Given the description of an element on the screen output the (x, y) to click on. 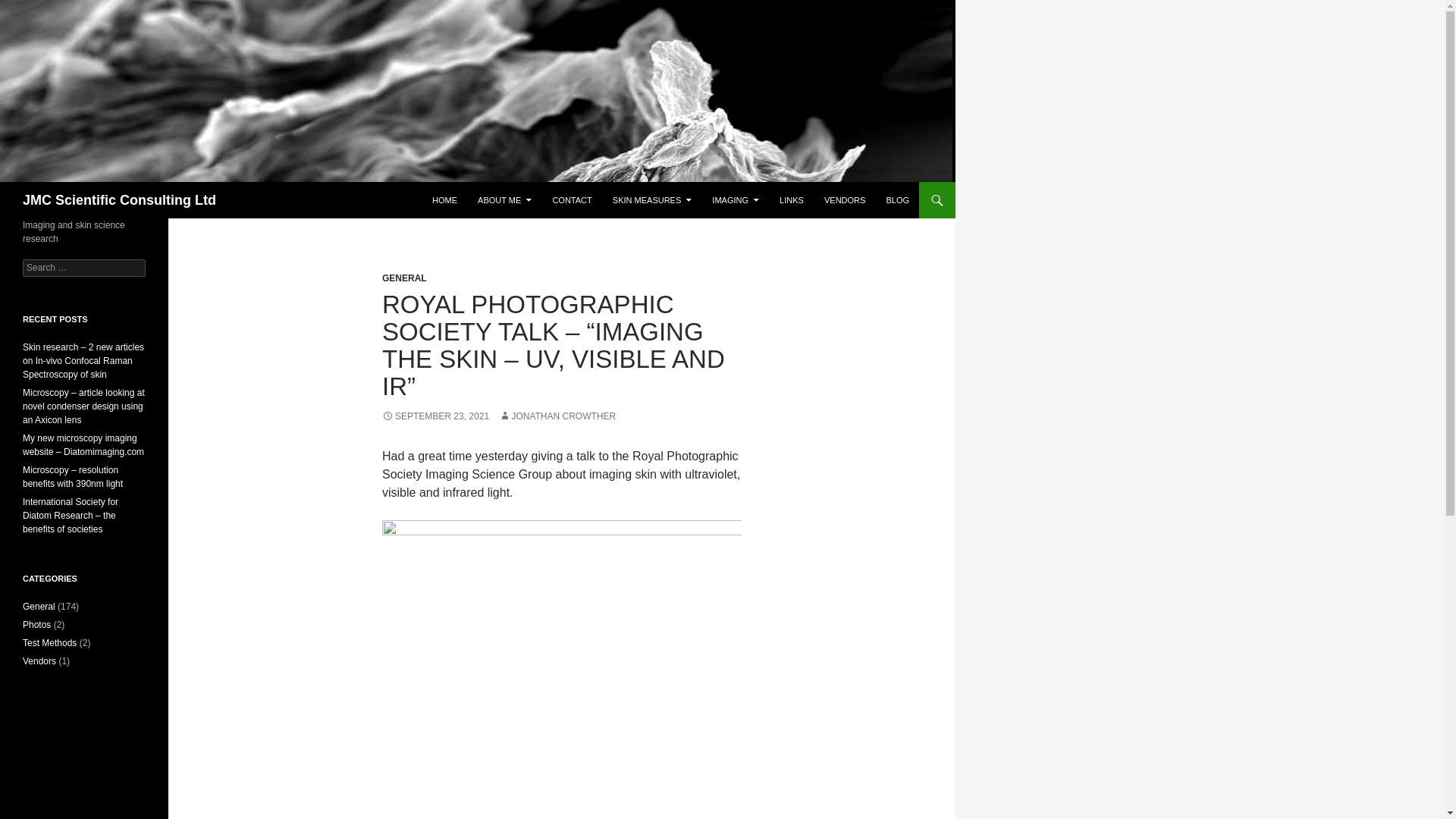
SKIN MEASURES (652, 199)
HOME (444, 199)
CONTACT (571, 199)
JMC Scientific Consulting Ltd (119, 199)
IMAGING (735, 199)
ABOUT ME (504, 199)
